Given the description of an element on the screen output the (x, y) to click on. 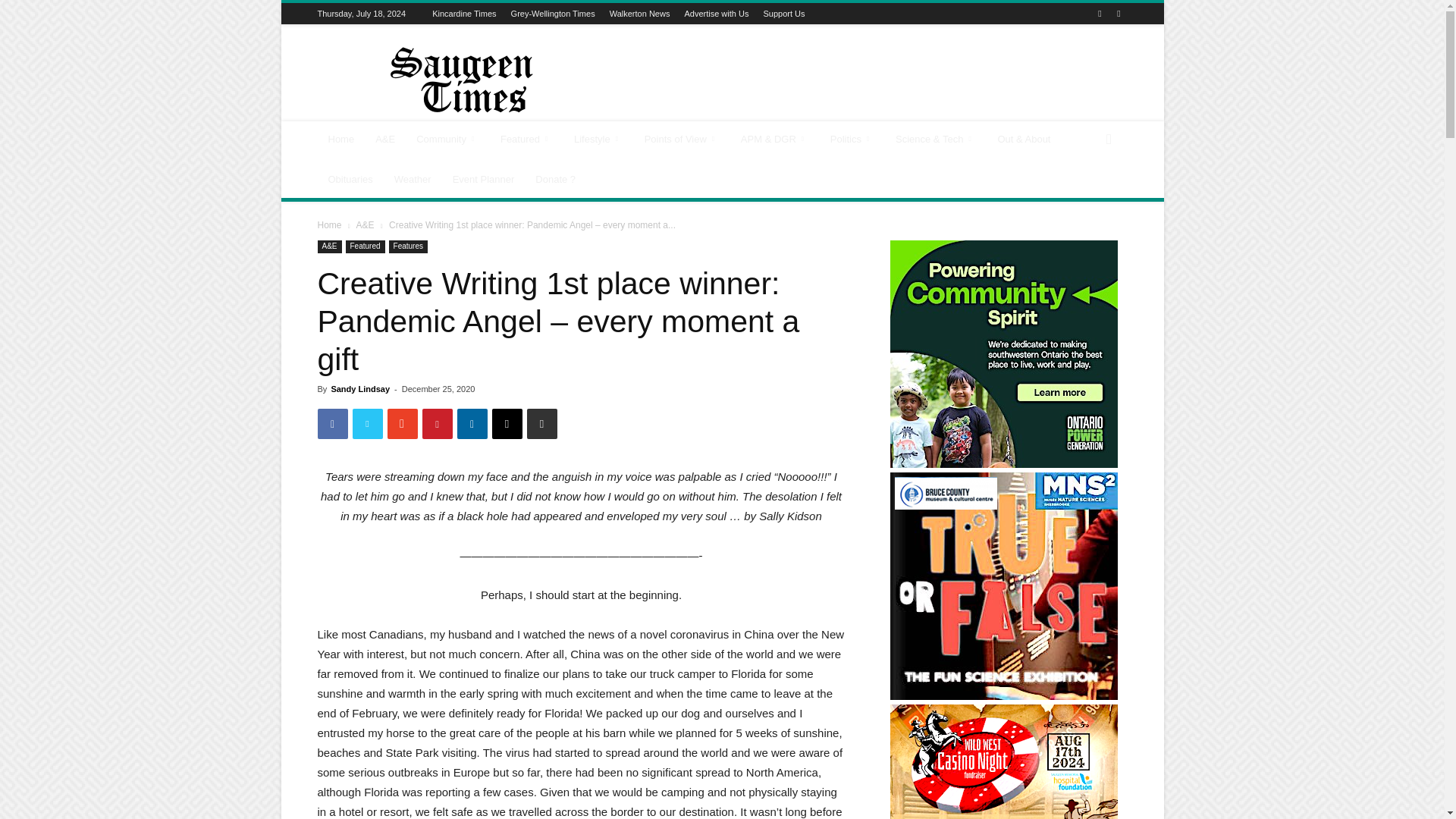
Saugeen Times (445, 79)
